Given the description of an element on the screen output the (x, y) to click on. 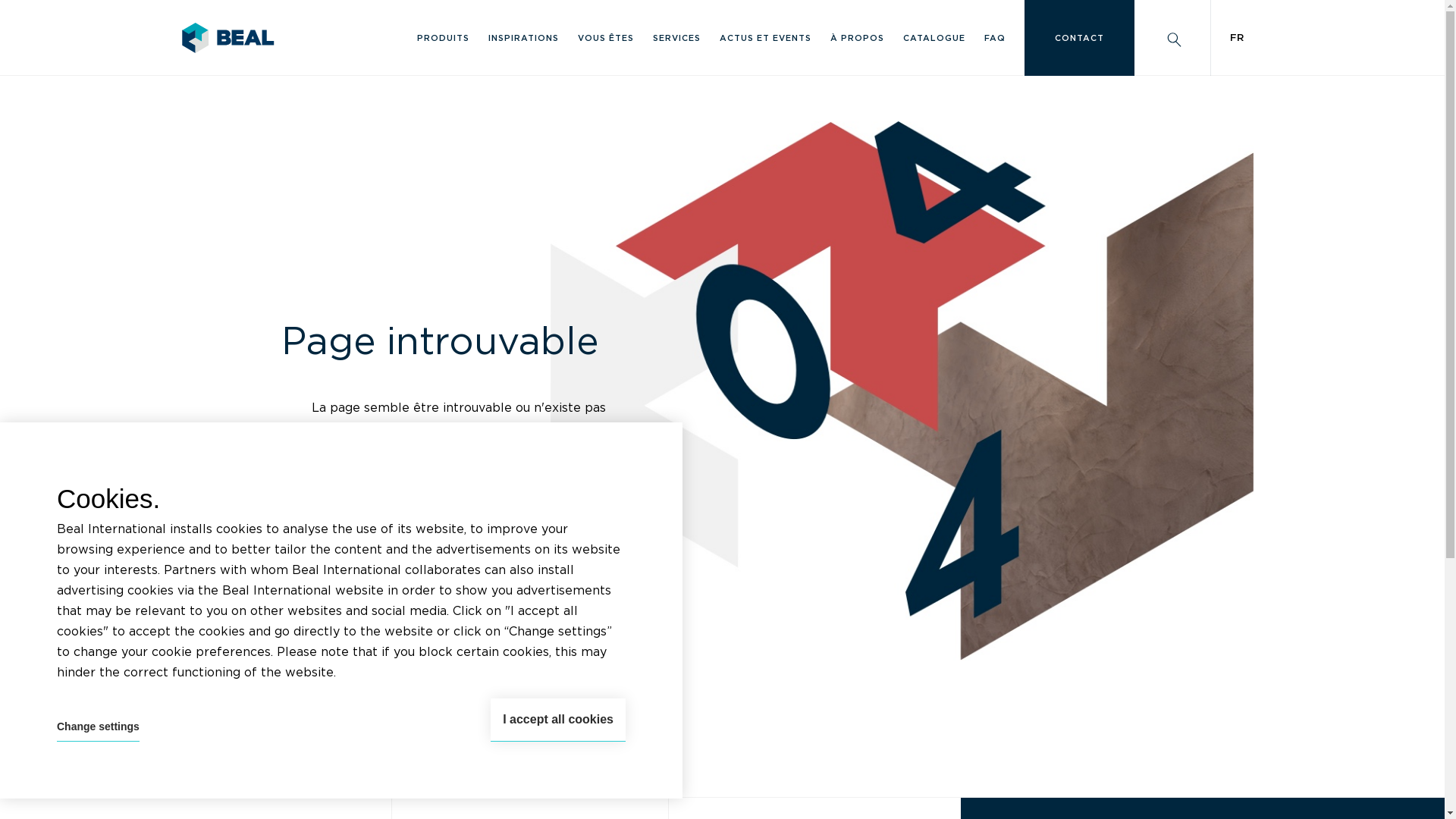
CONTACT Element type: text (1079, 37)
FR Element type: text (1236, 37)
FAQ Element type: text (994, 37)
ACTUS ET EVENTS Element type: text (765, 37)
CATALOGUE Element type: text (934, 37)
